Given the description of an element on the screen output the (x, y) to click on. 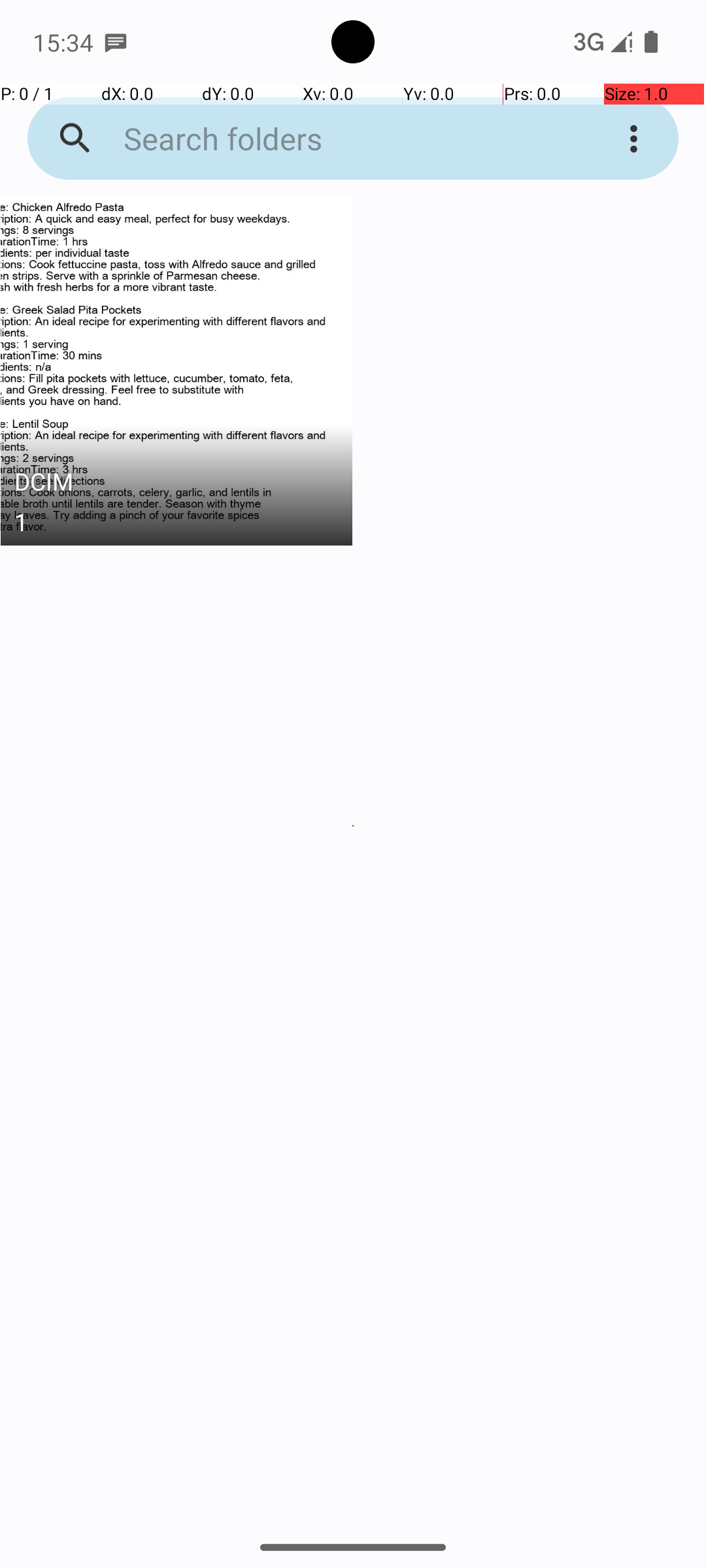
Search folders Element type: android.widget.EditText (335, 138)
DCIM Element type: android.widget.TextView (176, 484)
